Given the description of an element on the screen output the (x, y) to click on. 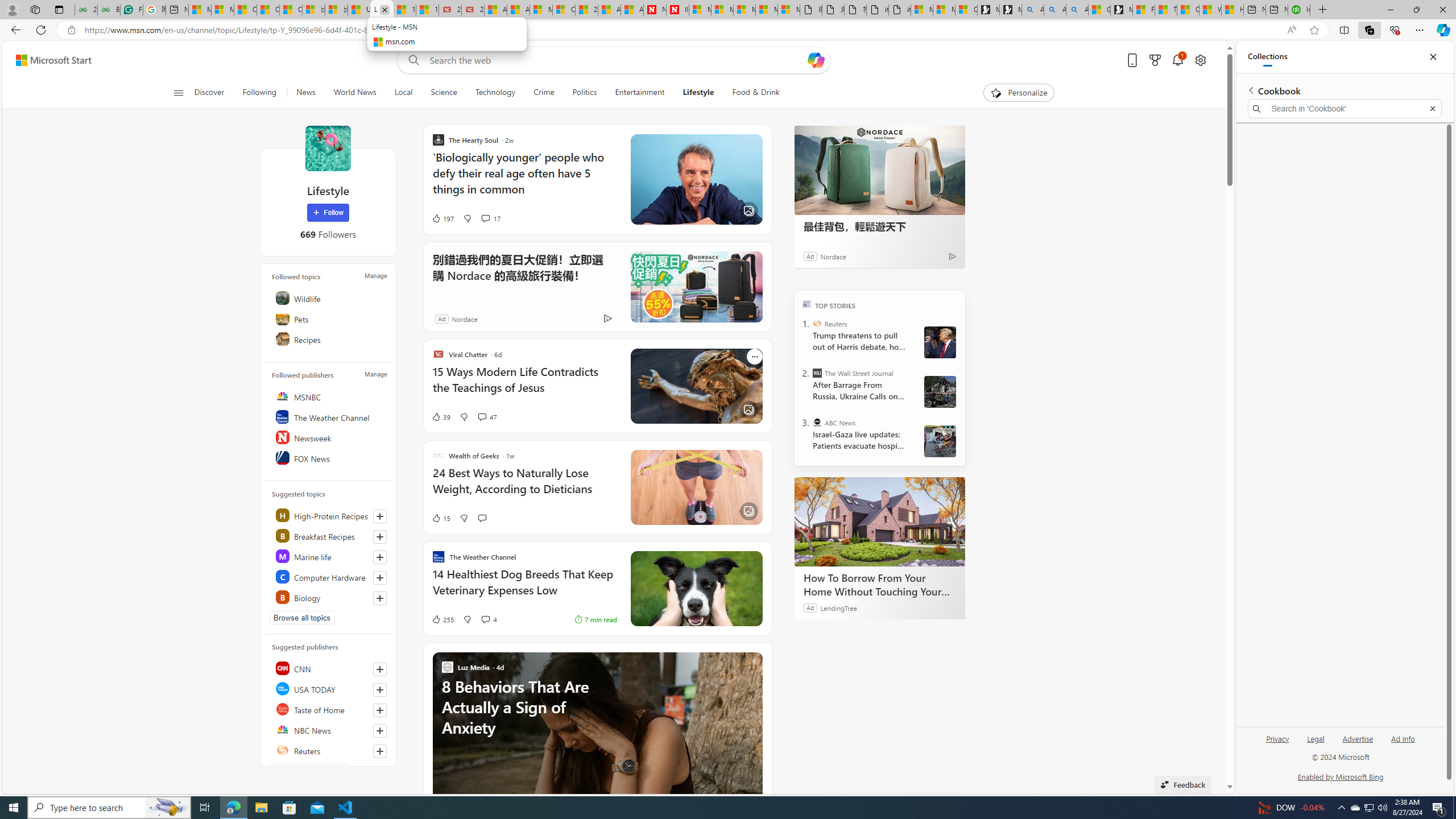
Food & Drink (756, 92)
Skip to footer (46, 59)
Science (443, 92)
MSNBC (328, 396)
25 Basic Linux Commands For Beginners - GeeksforGeeks (85, 9)
Ad info (1402, 742)
Split screen (1344, 29)
Privacy (1278, 738)
Follow this source (379, 751)
The Weather Channel (328, 416)
Discover (213, 92)
Feedback (1182, 784)
Following (259, 92)
Minimize (1390, 9)
